Given the description of an element on the screen output the (x, y) to click on. 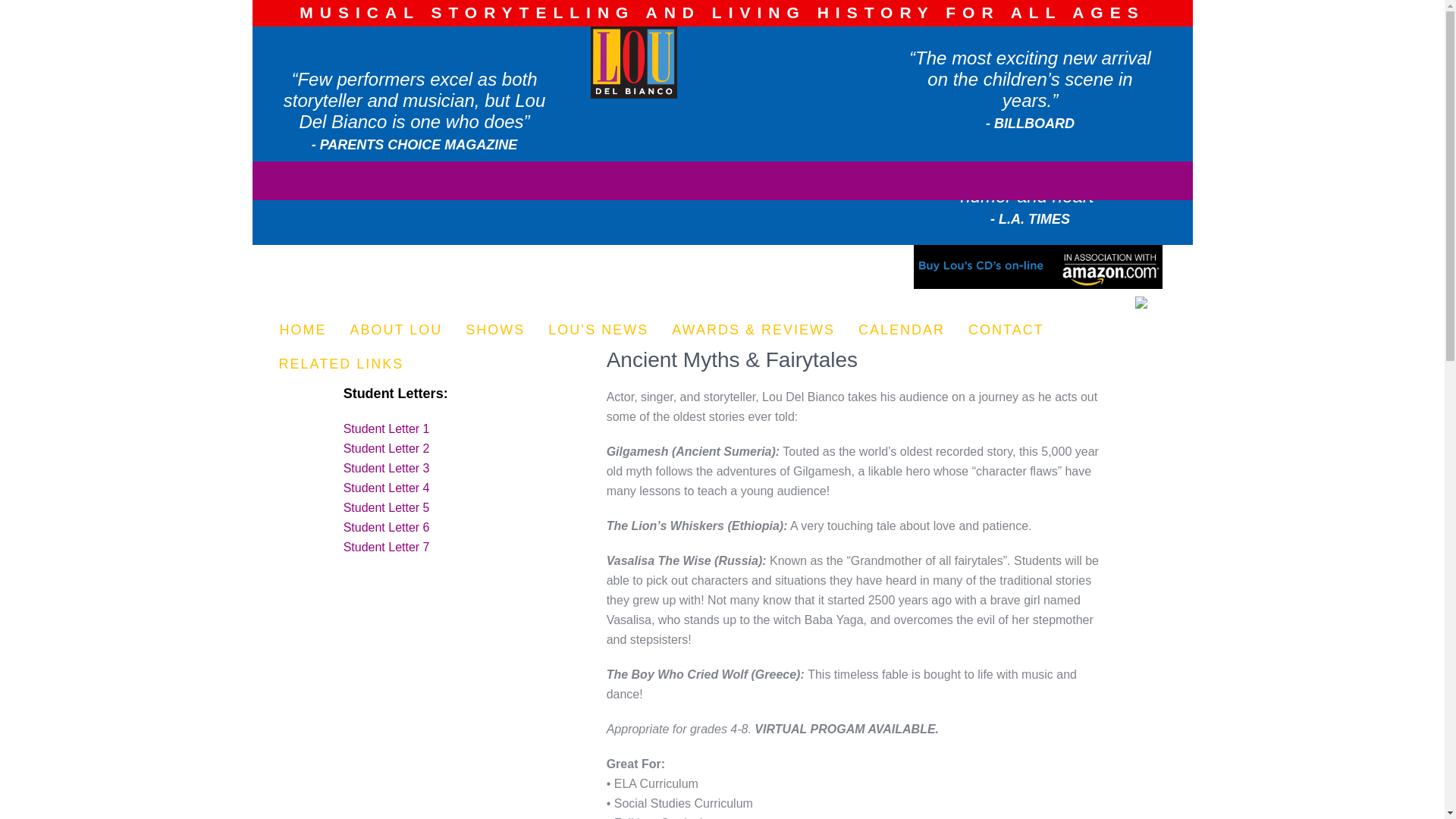
HOME (301, 326)
ABOUT LOU (395, 326)
Student Letter 7 (386, 546)
CALENDAR (901, 326)
Student Letter 4 (386, 487)
CONTACT (1006, 326)
Student Letter 2 (386, 448)
Student Letter 1 (386, 428)
RELATED LINKS (340, 360)
SHOWS (495, 326)
